Given the description of an element on the screen output the (x, y) to click on. 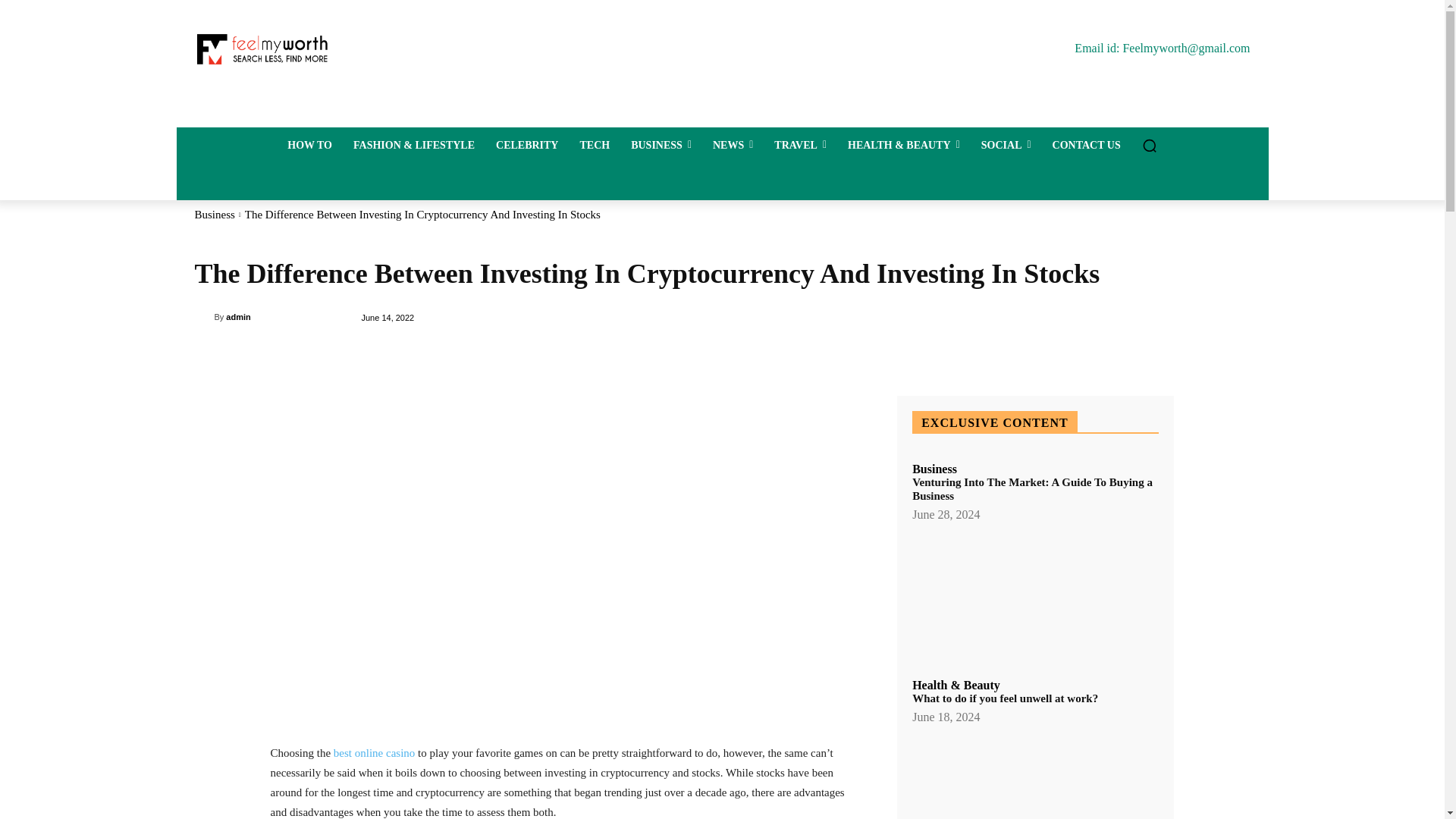
TECH (594, 145)
NEWS (731, 145)
HOW TO (309, 145)
TRAVEL (799, 145)
CELEBRITY (526, 145)
BUSINESS (660, 145)
